Given the description of an element on the screen output the (x, y) to click on. 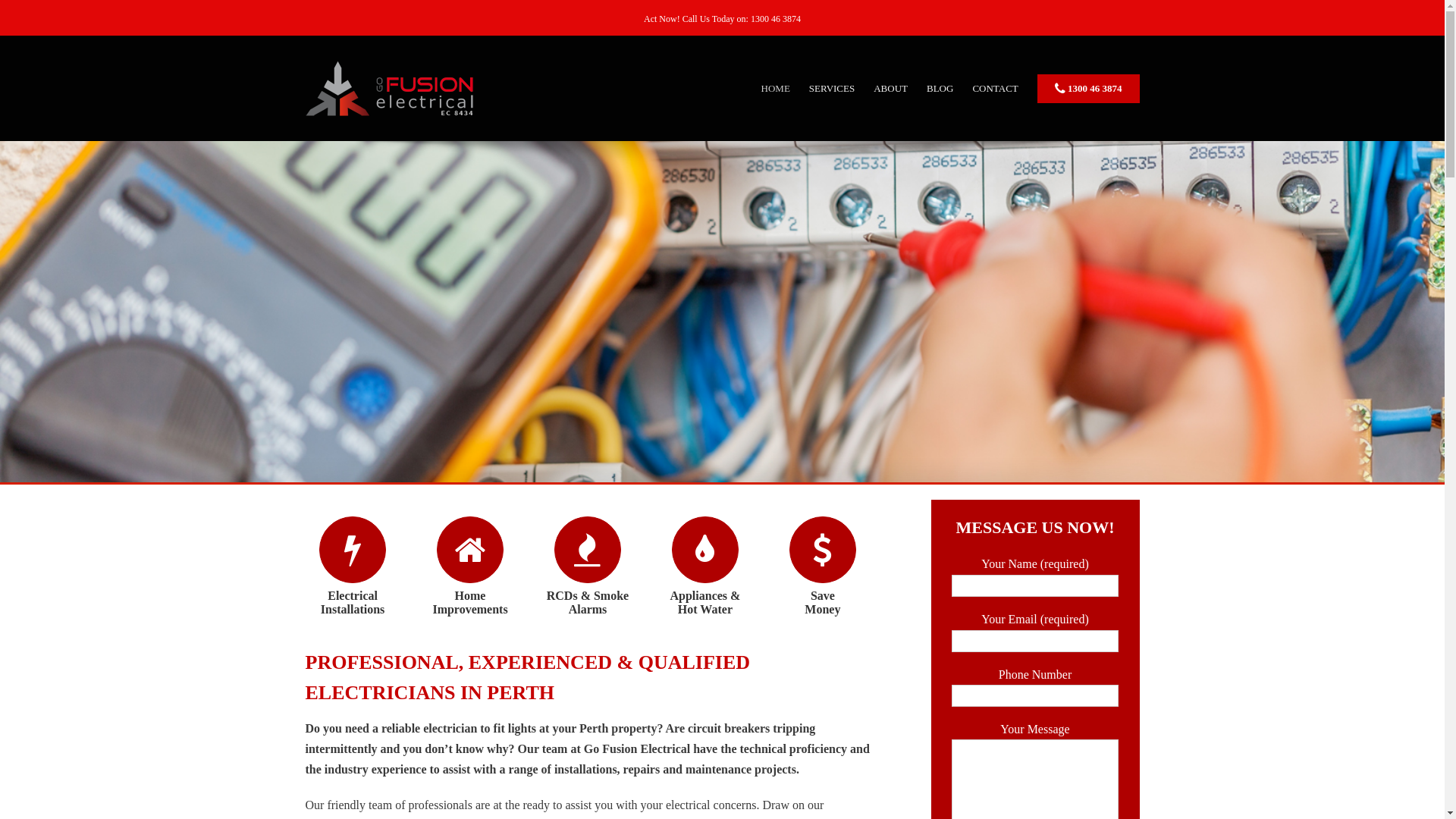
RCDs & Smoke
Alarms Element type: text (587, 602)
SERVICES Element type: text (831, 87)
1300 46 3874 Element type: text (1088, 87)
Hot Water Element type: text (704, 608)
Appliances & Element type: text (704, 595)
Save
Money Element type: text (822, 602)
HOME Element type: text (775, 87)
CONTACT Element type: text (994, 87)
ABOUT Element type: text (890, 87)
BLOG Element type: text (939, 87)
Home
Improvements Element type: text (469, 602)
Electrical
Installations Element type: text (352, 602)
